Given the description of an element on the screen output the (x, y) to click on. 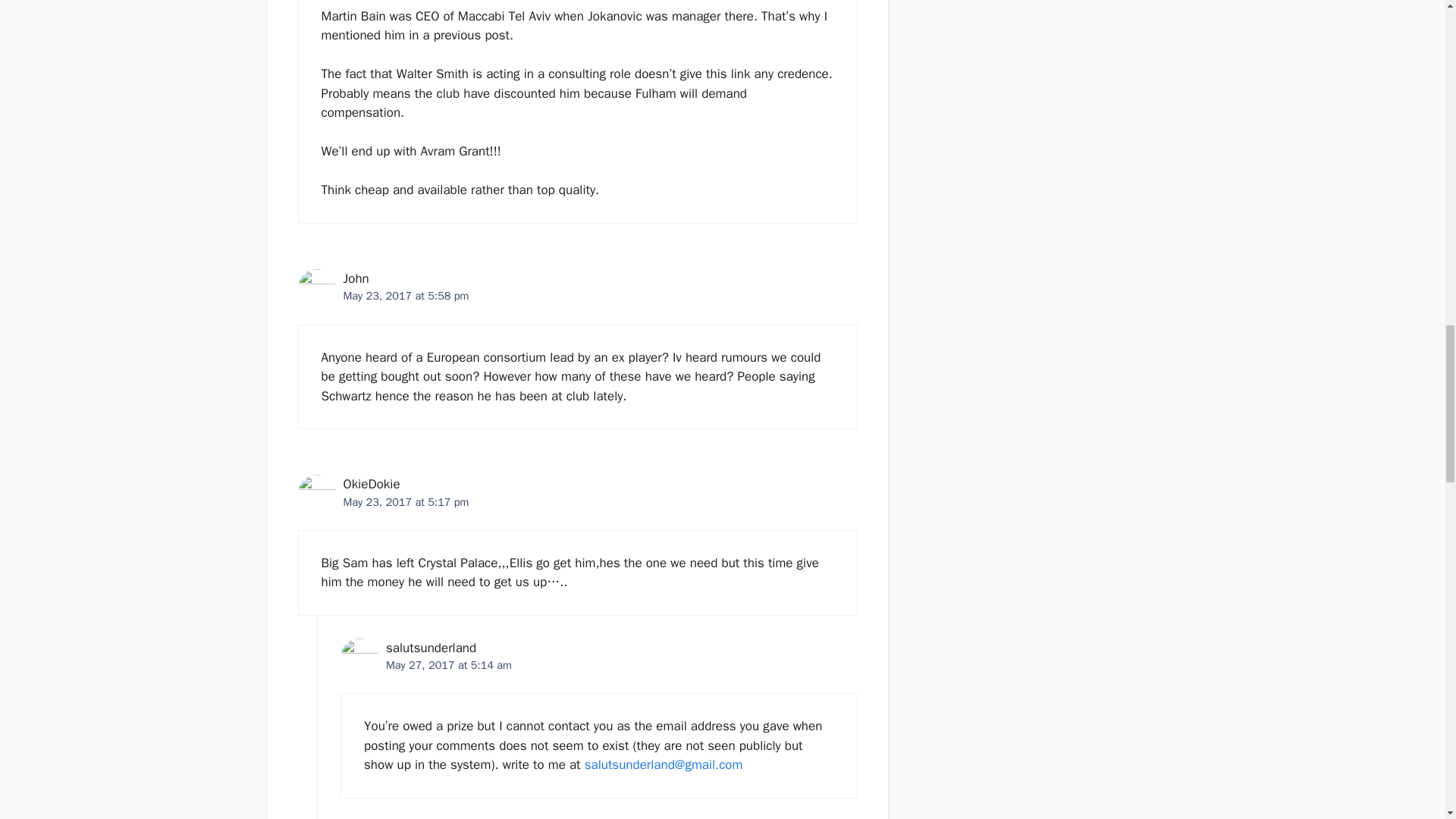
May 23, 2017 at 5:17 pm (405, 501)
May 27, 2017 at 5:14 am (448, 664)
May 23, 2017 at 5:58 pm (405, 295)
